Given the description of an element on the screen output the (x, y) to click on. 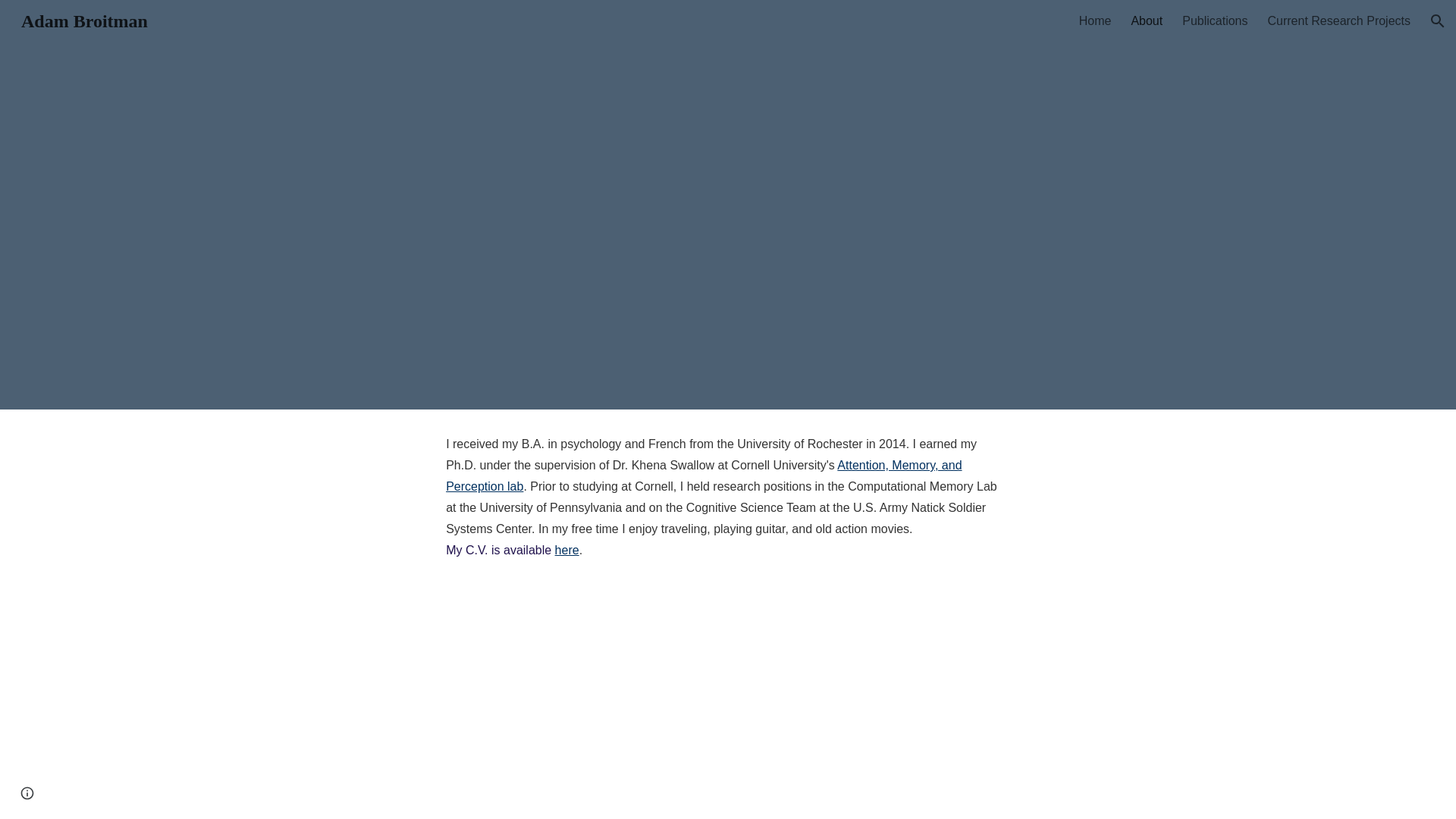
Attention, Memory, and Perception lab (702, 475)
here (566, 549)
Home (1095, 20)
Publications (1214, 20)
About (1146, 20)
Current Research Projects (1338, 20)
Adam Broitman (84, 19)
